Given the description of an element on the screen output the (x, y) to click on. 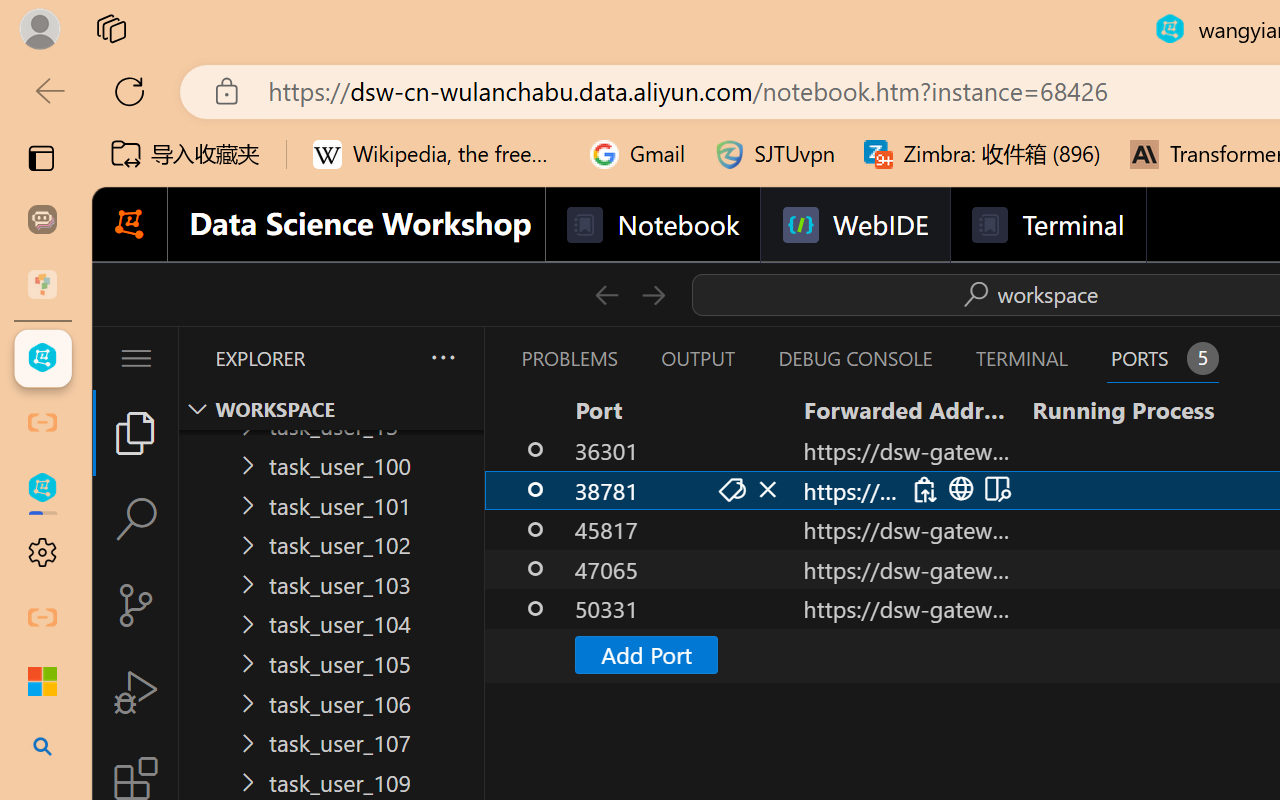
Source Control (Ctrl+Shift+G) (135, 604)
